Given the description of an element on the screen output the (x, y) to click on. 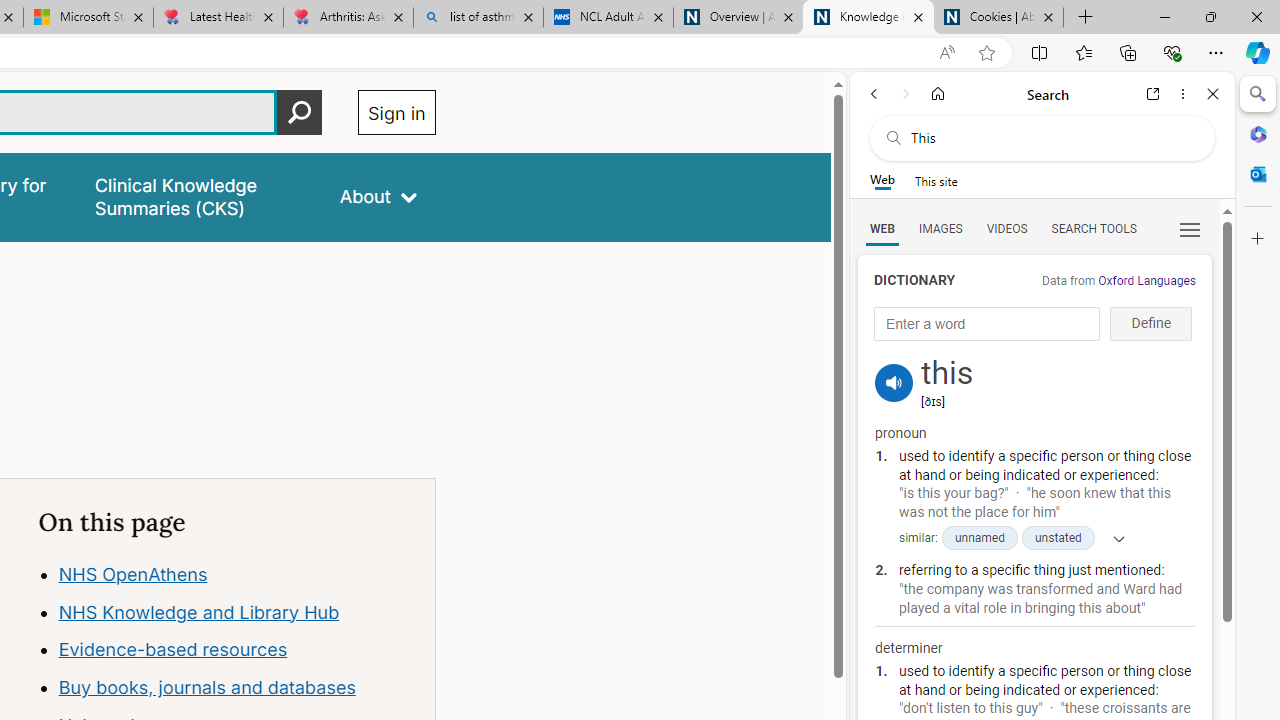
NHS OpenAthens (132, 573)
pronounce (893, 382)
unnamed (978, 538)
Evidence-based resources (237, 650)
Buy books, journals and databases (206, 687)
